Given the description of an element on the screen output the (x, y) to click on. 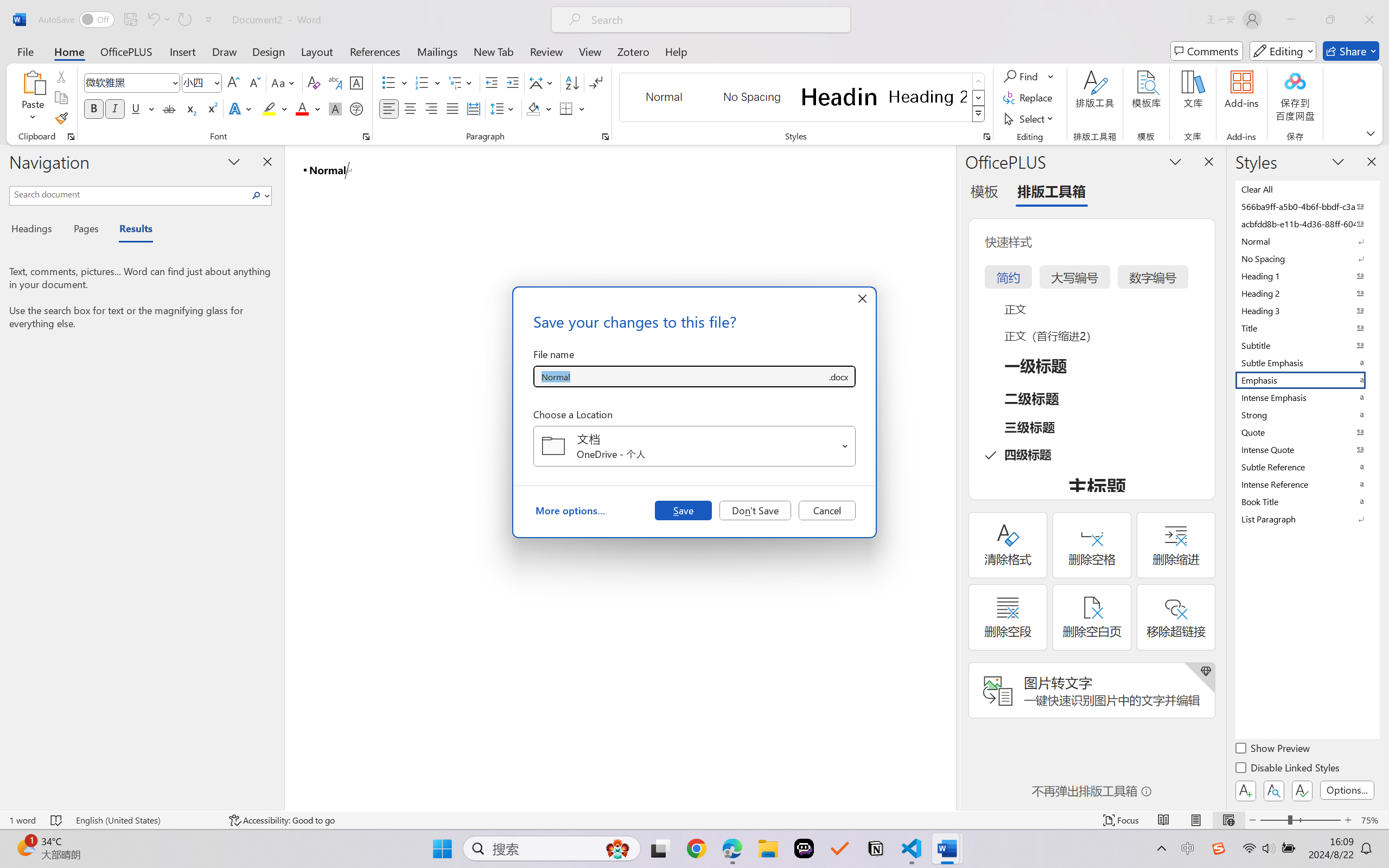
Intense Quote (1306, 449)
Quick Access Toolbar (127, 19)
Text Highlight Color (274, 108)
Font Size (196, 82)
Class: NetUIScrollBar (948, 477)
Office Clipboard... (70, 136)
Customize Quick Access Toolbar (208, 19)
Subtle Reference (1306, 466)
OfficePLUS (126, 51)
Cut (60, 75)
Select (1030, 118)
Enclose Characters... (356, 108)
